Given the description of an element on the screen output the (x, y) to click on. 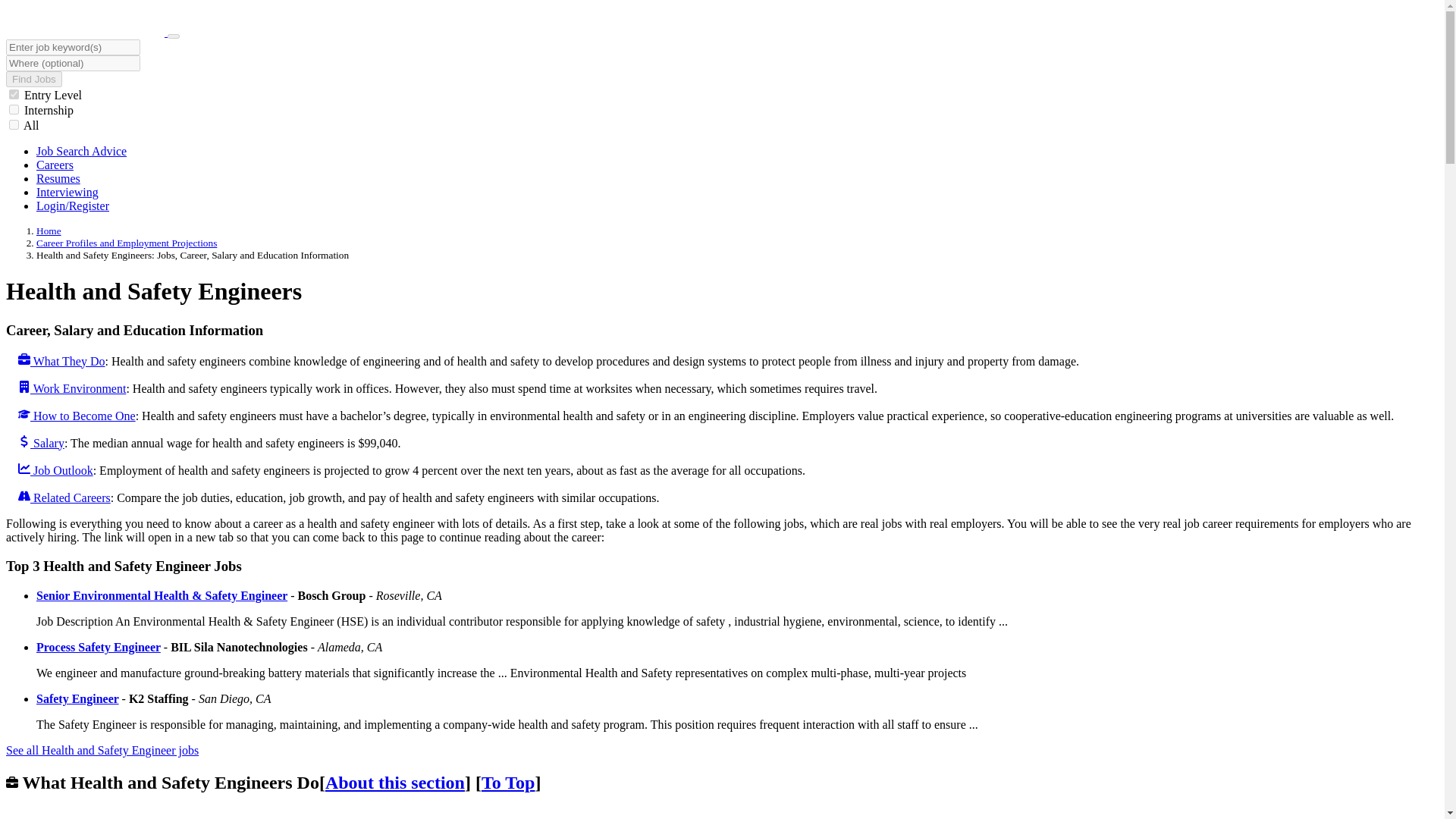
Job Search Advice (81, 151)
Related Careers (63, 497)
About this section (394, 782)
Career Profiles and Employment Projections (126, 242)
1 (13, 94)
Resumes (58, 178)
4 (13, 124)
Careers (55, 164)
How to Become One (76, 415)
Salary (40, 442)
Job Outlook (55, 470)
See all Health and Safety Engineer jobs (101, 749)
Home (48, 230)
Safety Engineer (77, 698)
Process Safety Engineer (98, 646)
